Given the description of an element on the screen output the (x, y) to click on. 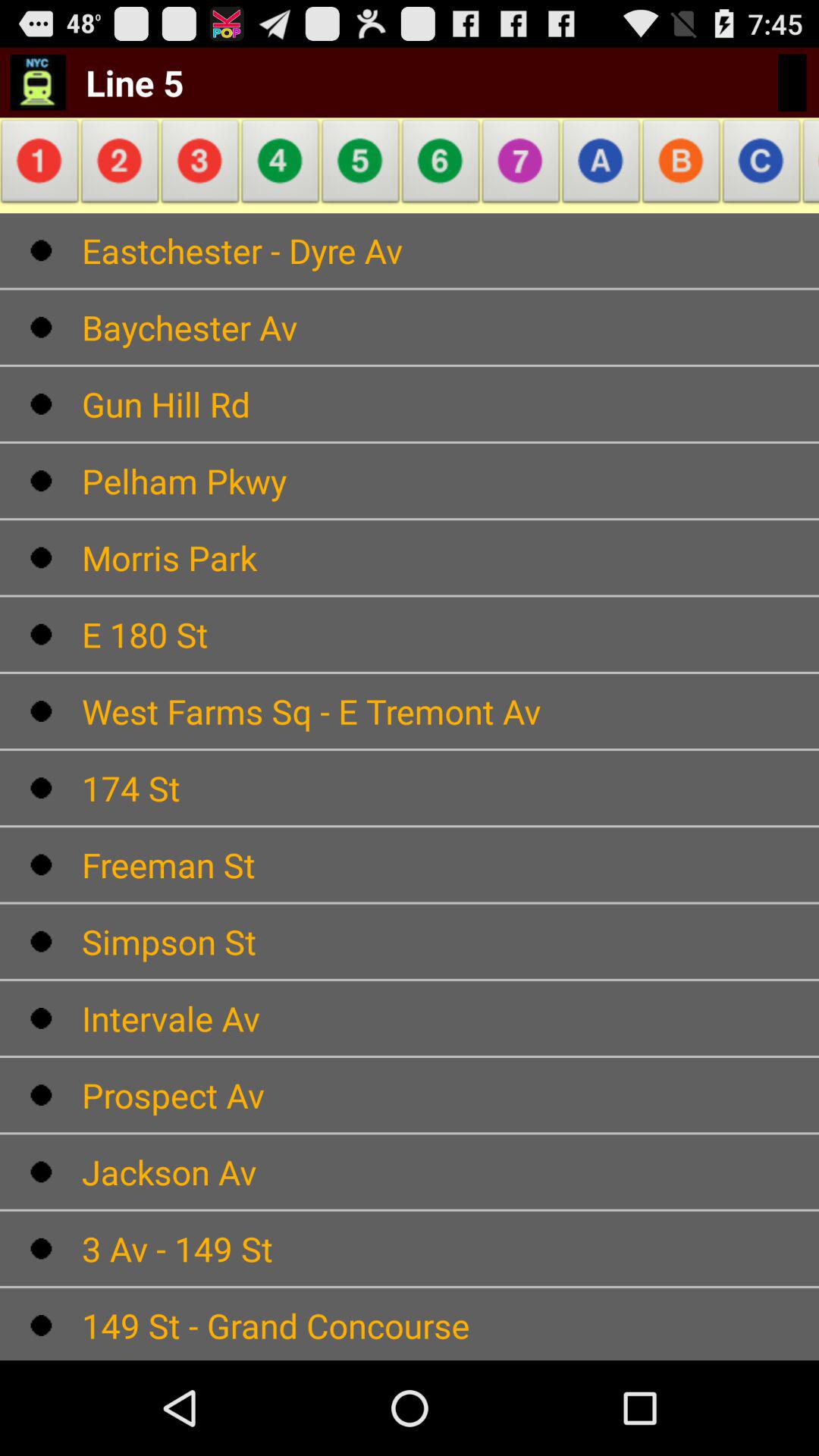
press item to the right of the line 5 item (280, 165)
